Given the description of an element on the screen output the (x, y) to click on. 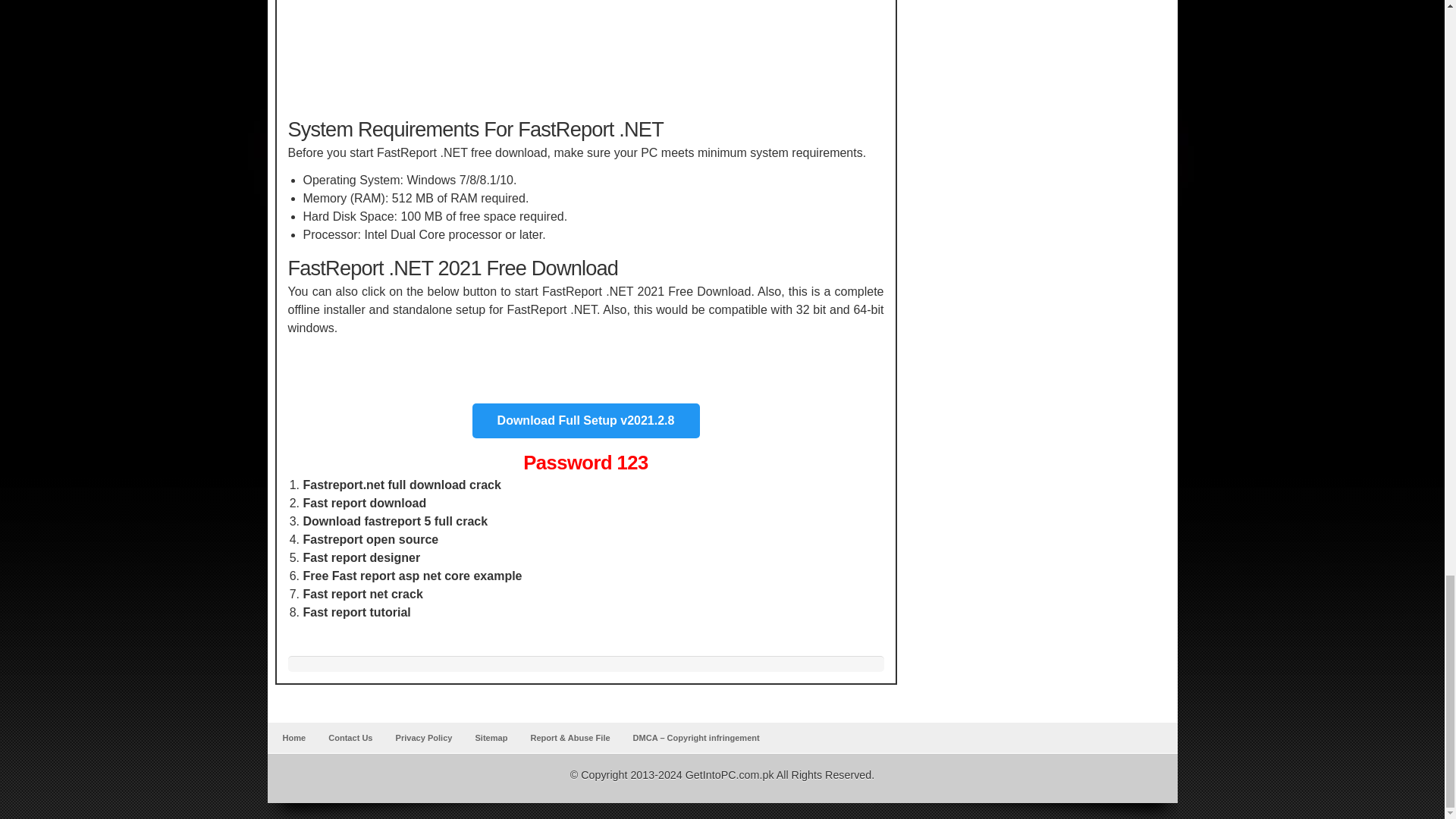
Download Full Setup v2021.2.8 (584, 420)
Privacy Policy (424, 737)
Sitemap (491, 737)
Size: 82 MB (584, 420)
Home (294, 737)
Contact Us (350, 737)
